Given the description of an element on the screen output the (x, y) to click on. 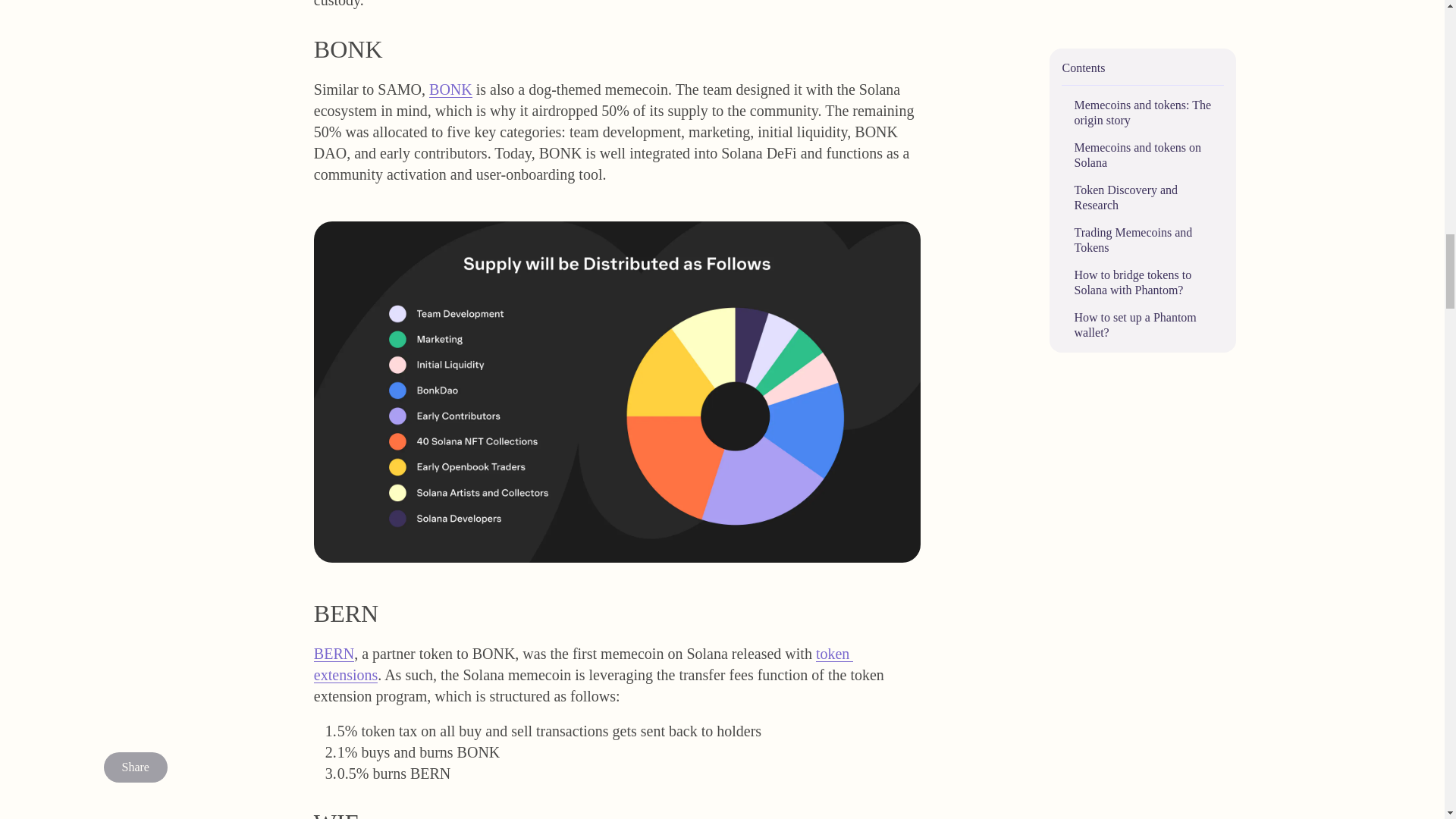
token extensions (583, 656)
BONK (450, 89)
BERN (333, 653)
